Given the description of an element on the screen output the (x, y) to click on. 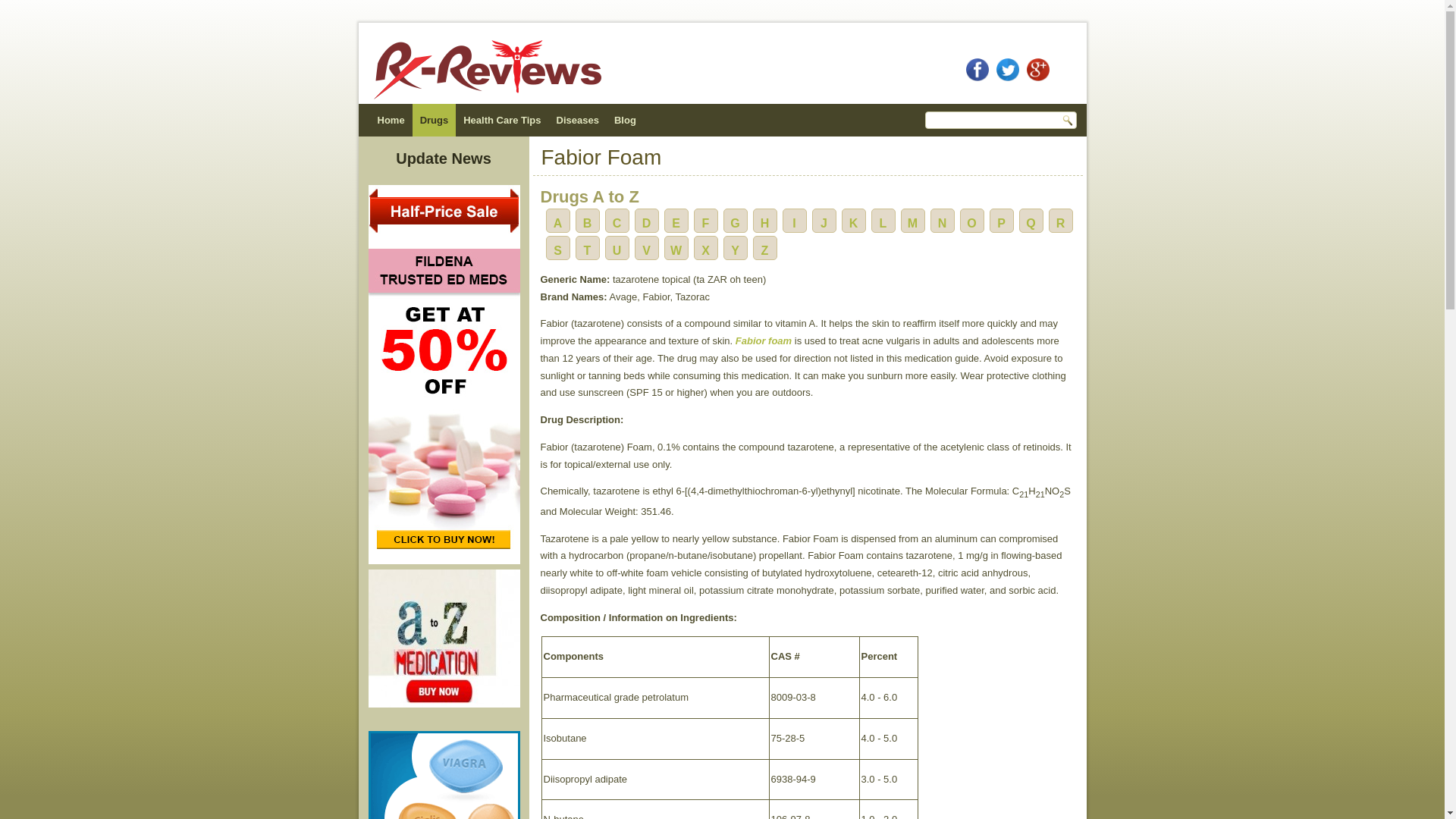
Drugs (434, 120)
Home (390, 120)
RX Reviews (390, 120)
Drugs (434, 120)
